Given the description of an element on the screen output the (x, y) to click on. 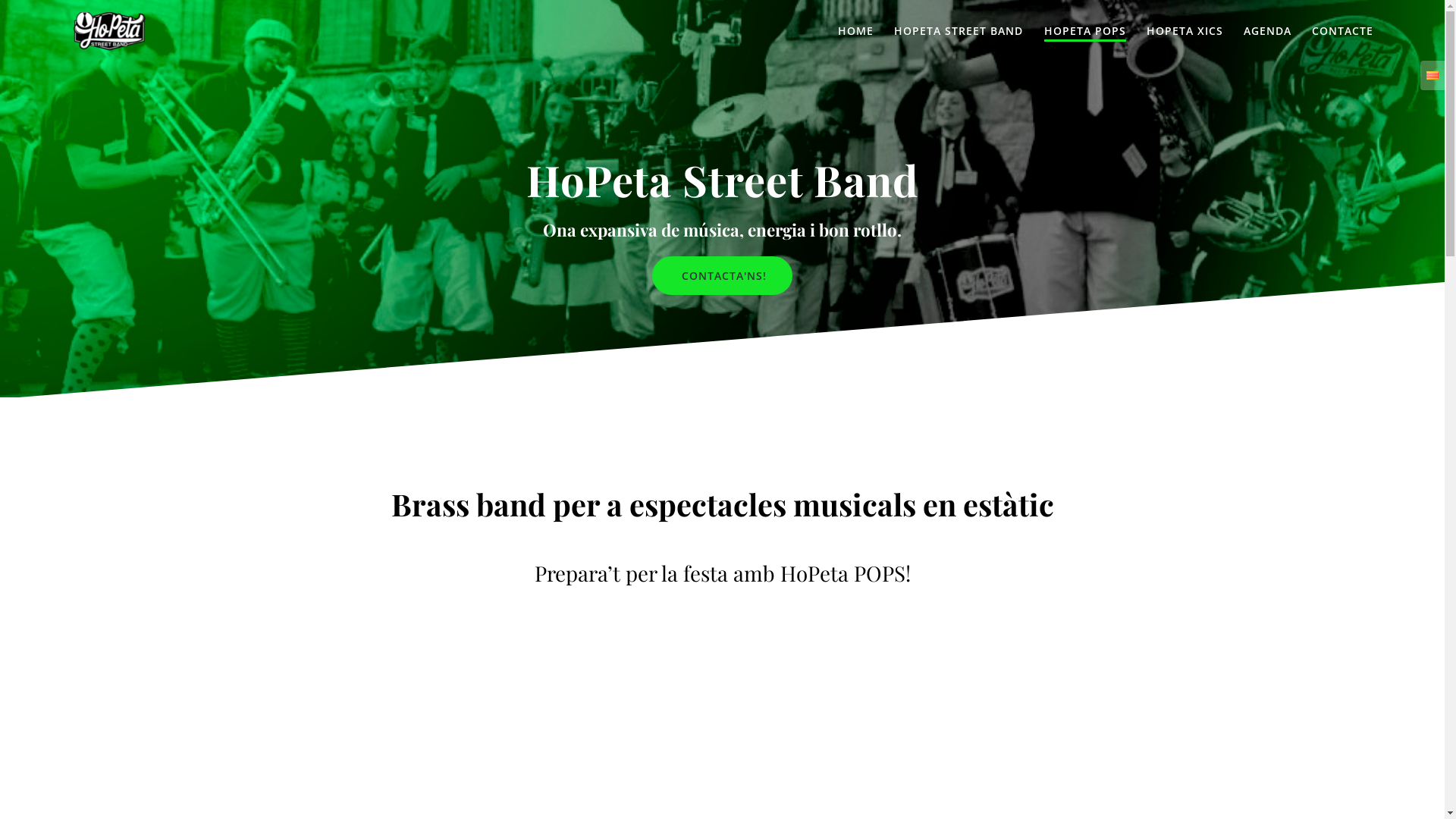
CONTACTE Element type: text (1342, 31)
HOPETA STREET BAND Element type: text (958, 31)
CONTACTA'NS! Element type: text (722, 275)
HOPETA POPS Element type: text (1085, 31)
HOME Element type: text (855, 31)
HOPETA XICS Element type: text (1184, 31)
AGENDA Element type: text (1267, 31)
